Given the description of an element on the screen output the (x, y) to click on. 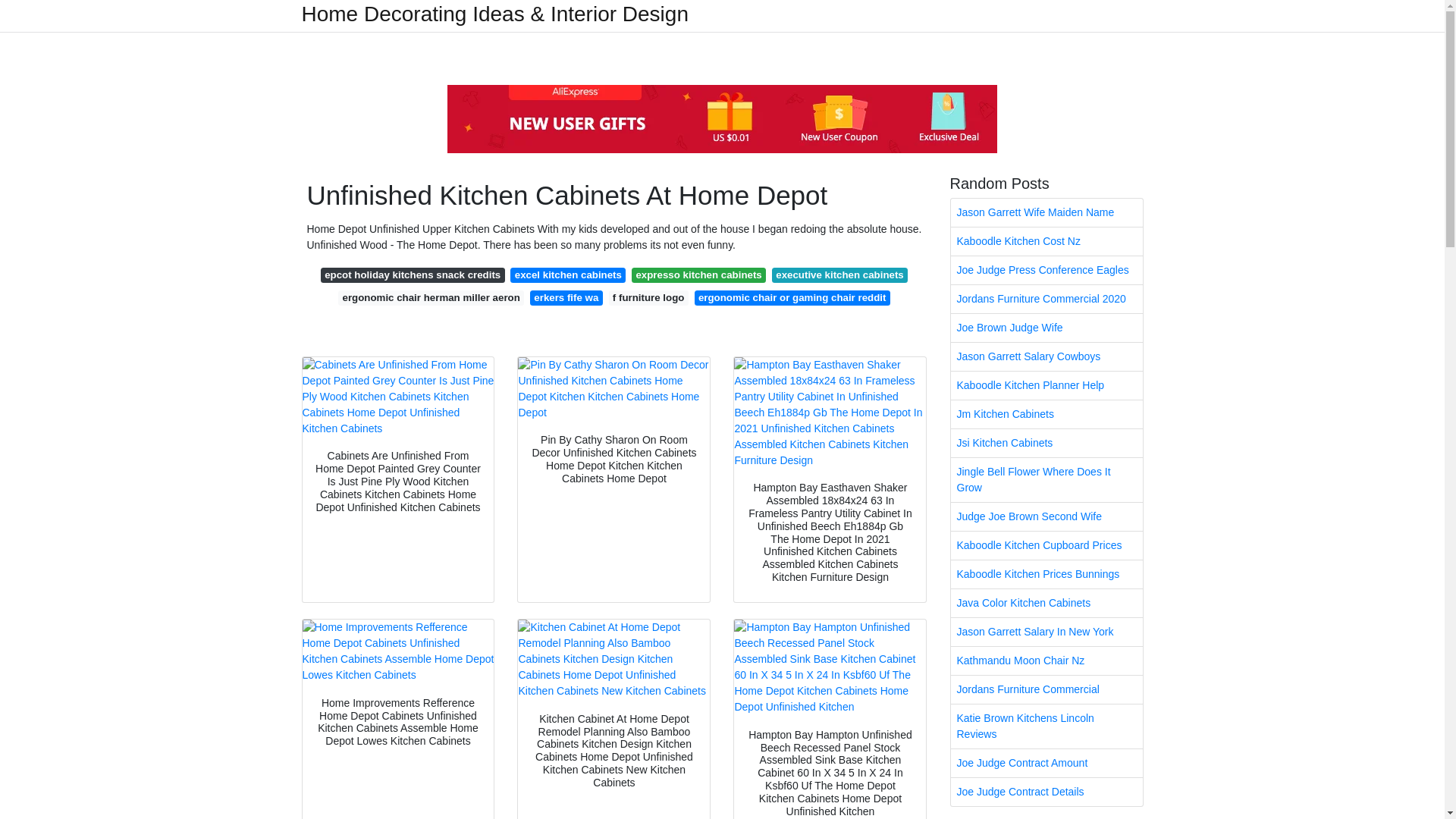
Kaboodle Kitchen Planner Help (1046, 385)
epcot holiday kitchens snack credits (412, 274)
ergonomic chair or gaming chair reddit (791, 297)
erkers fife wa (565, 297)
Jsi Kitchen Cabinets (1046, 443)
expresso kitchen cabinets (698, 274)
Joe Brown Judge Wife (1046, 327)
executive kitchen cabinets (839, 274)
Jason Garrett Salary Cowboys (1046, 357)
Kaboodle Kitchen Cost Nz (1046, 241)
Jm Kitchen Cabinets (1046, 414)
excel kitchen cabinets (568, 274)
Jordans Furniture Commercial 2020 (1046, 298)
f furniture logo (648, 297)
Joe Judge Press Conference Eagles (1046, 270)
